Given the description of an element on the screen output the (x, y) to click on. 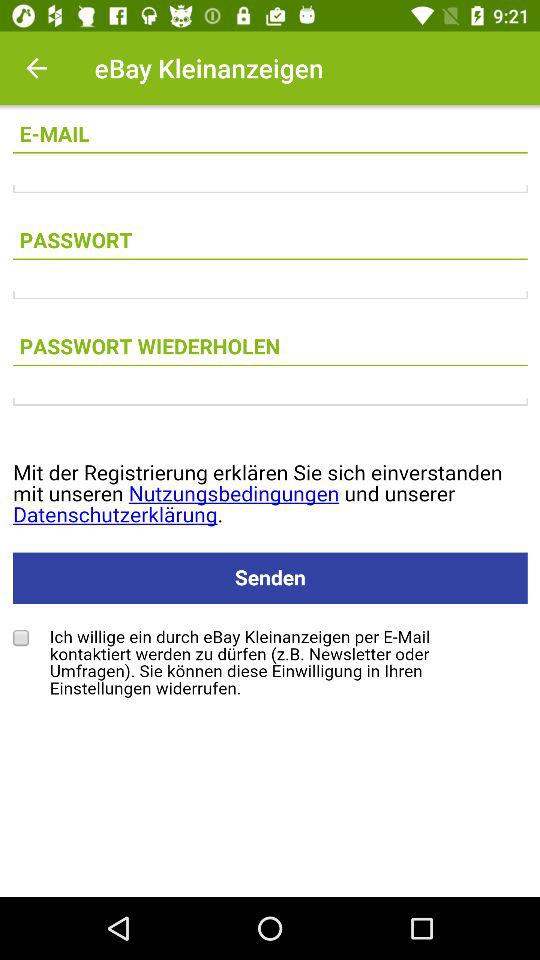
goto back (36, 68)
